Given the description of an element on the screen output the (x, y) to click on. 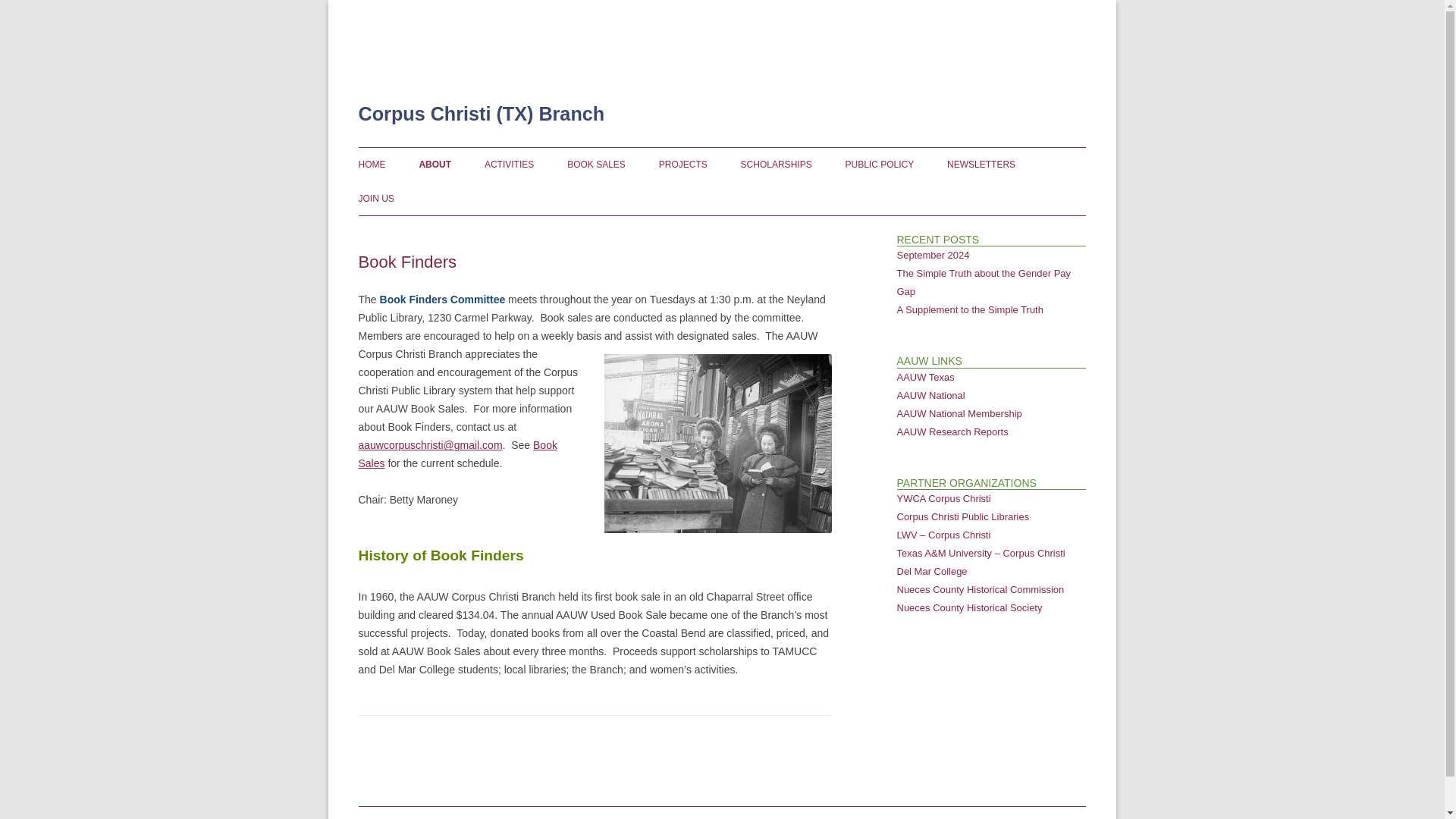
YWCA Corpus Christi (943, 498)
PROJECTS (683, 164)
PUBLIC POLICY (879, 164)
AAUW National (929, 395)
Book Sales (457, 453)
BOOK SALES (596, 164)
AAUW Texas (924, 377)
ABOUT (435, 164)
September 2024 (932, 255)
